Given the description of an element on the screen output the (x, y) to click on. 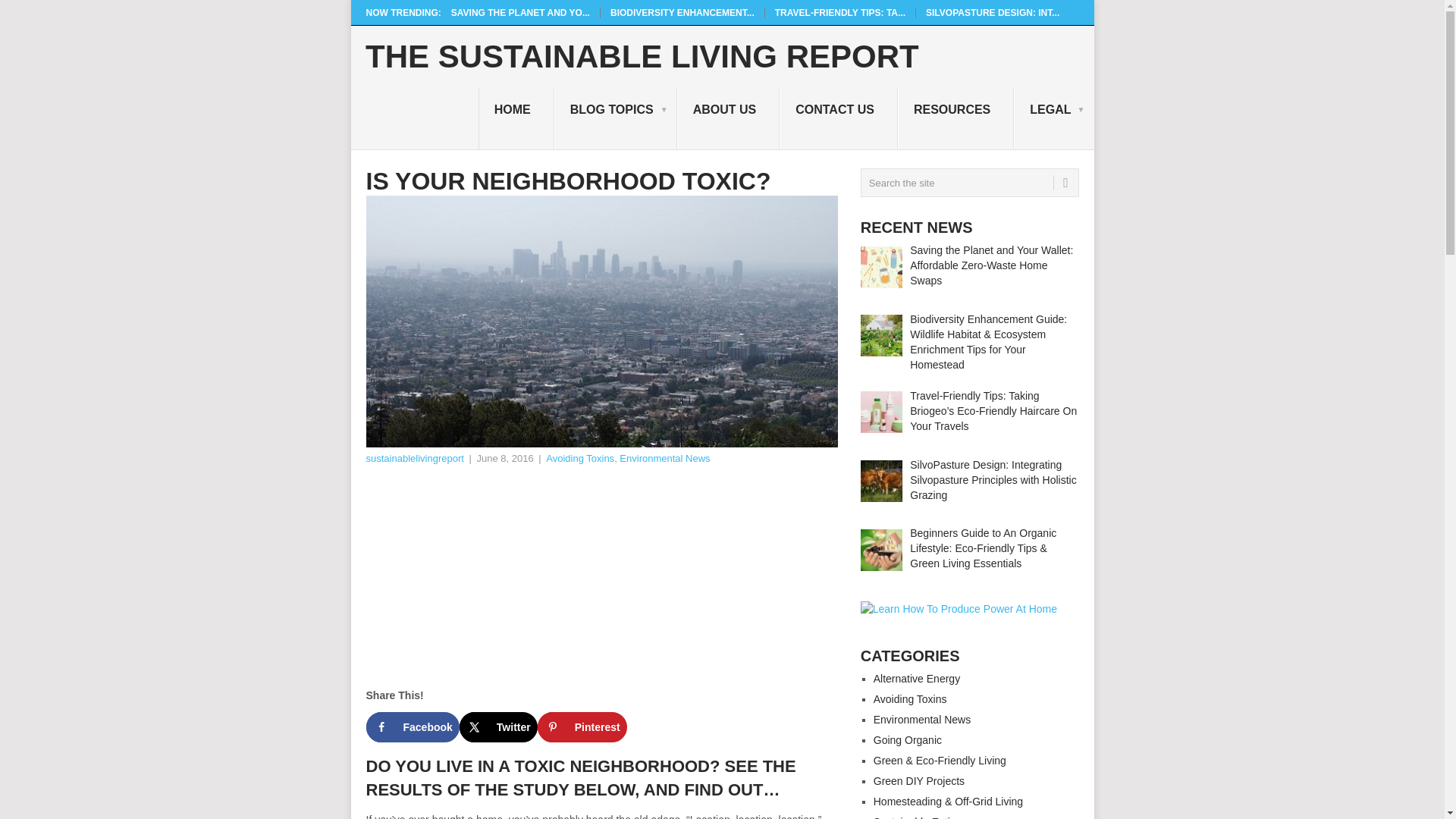
Advertisement (601, 581)
Facebook (411, 726)
Posts by sustainablelivingreport (414, 458)
Environmental News (665, 458)
Share on X (498, 726)
SAVING THE PLANET AND YO... (520, 12)
Avoiding Toxins (580, 458)
Twitter (498, 726)
Save to Pinterest (582, 726)
Search the site (969, 182)
BLOG TOPICS (615, 118)
HOME (516, 118)
CONTACT US (838, 118)
SILVOPASTURE DESIGN: INT... (992, 12)
